Given the description of an element on the screen output the (x, y) to click on. 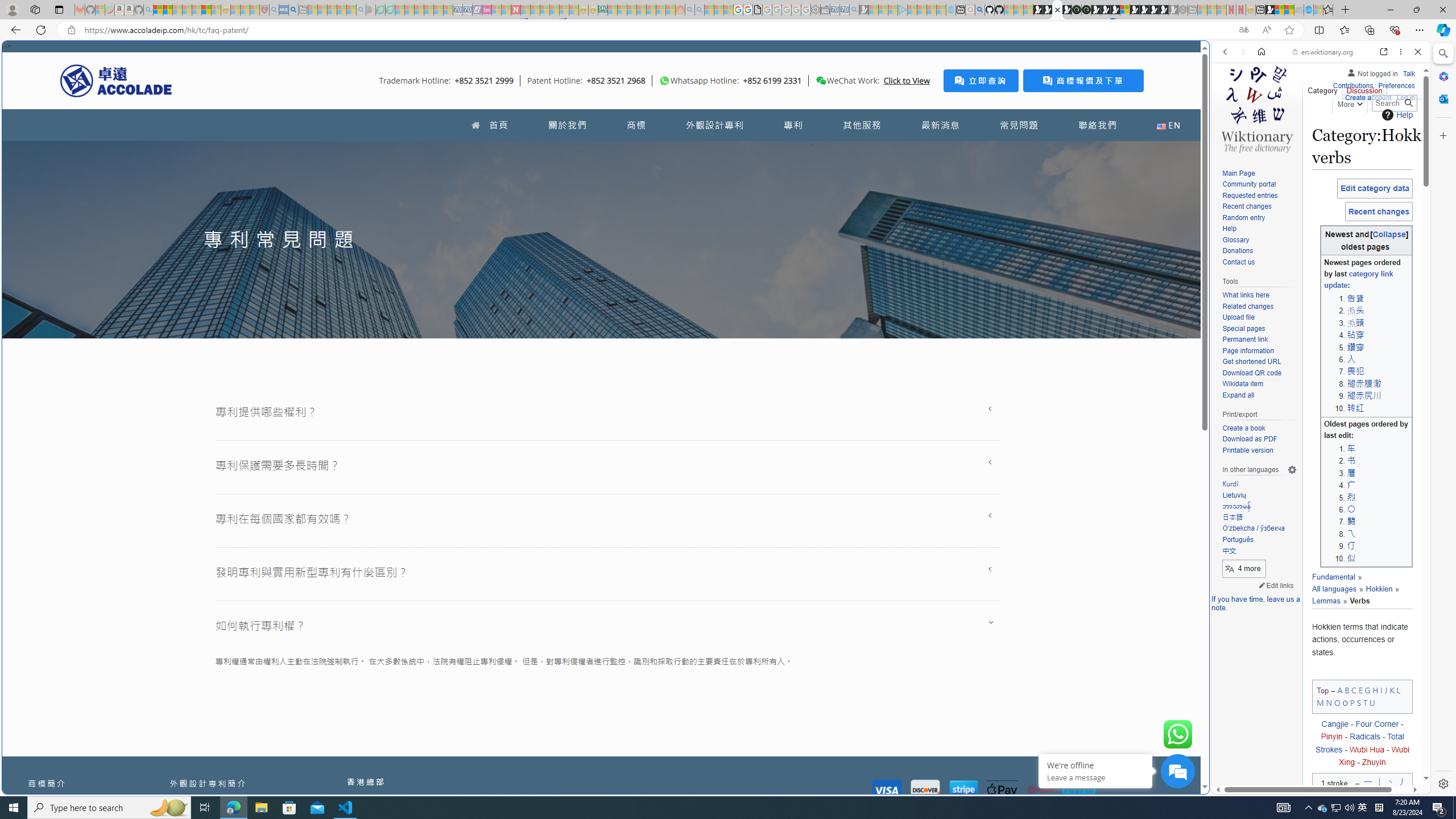
Download as PDF (1259, 439)
T (1364, 701)
Discussion (1363, 87)
What links here (1245, 295)
